Given the description of an element on the screen output the (x, y) to click on. 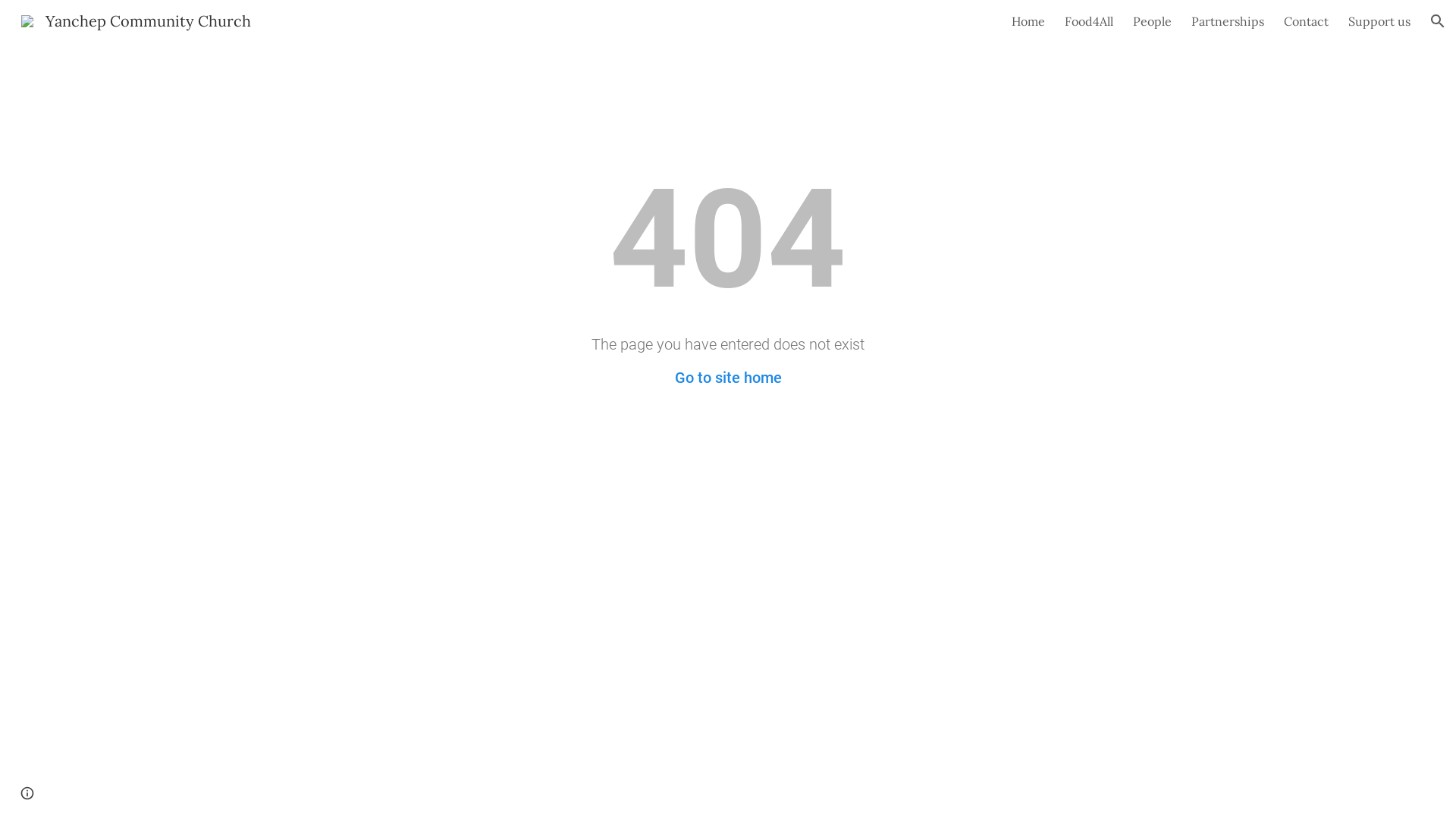
People Element type: text (1151, 20)
Go to site home Element type: text (727, 377)
Food4All Element type: text (1088, 20)
Contact Element type: text (1305, 20)
Home Element type: text (1027, 20)
Partnerships Element type: text (1227, 20)
Yanchep Community Church Element type: text (136, 18)
Support us Element type: text (1379, 20)
